Given the description of an element on the screen output the (x, y) to click on. 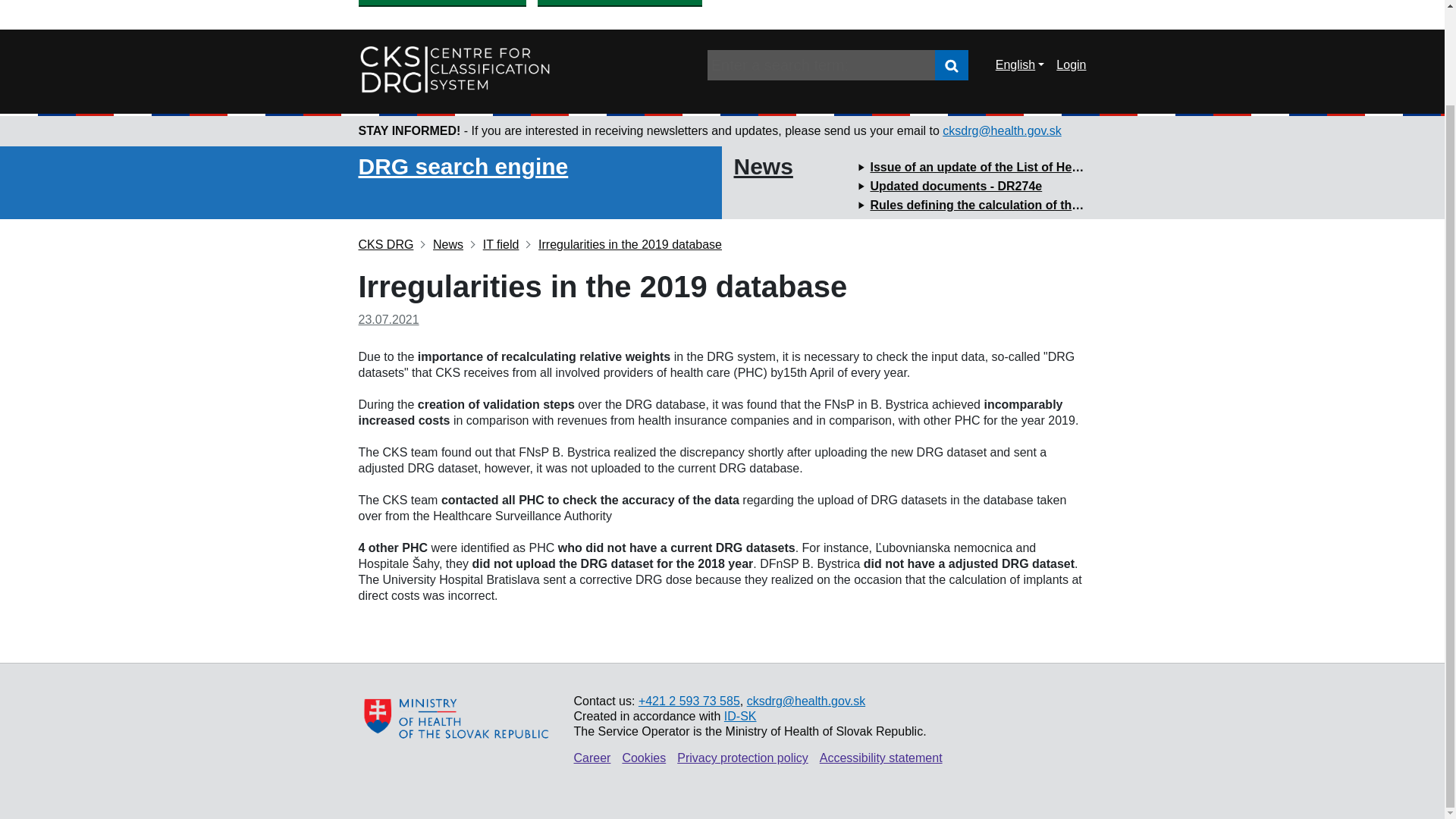
Privacy protection policy (742, 757)
Accessibility statement (880, 757)
CKS DRG (385, 244)
IT field (494, 244)
Updated documents - DR274e (955, 185)
Updated documents - DR274e (955, 185)
Enter a search term: (820, 64)
DRG search engine (462, 166)
News (441, 244)
